Given the description of an element on the screen output the (x, y) to click on. 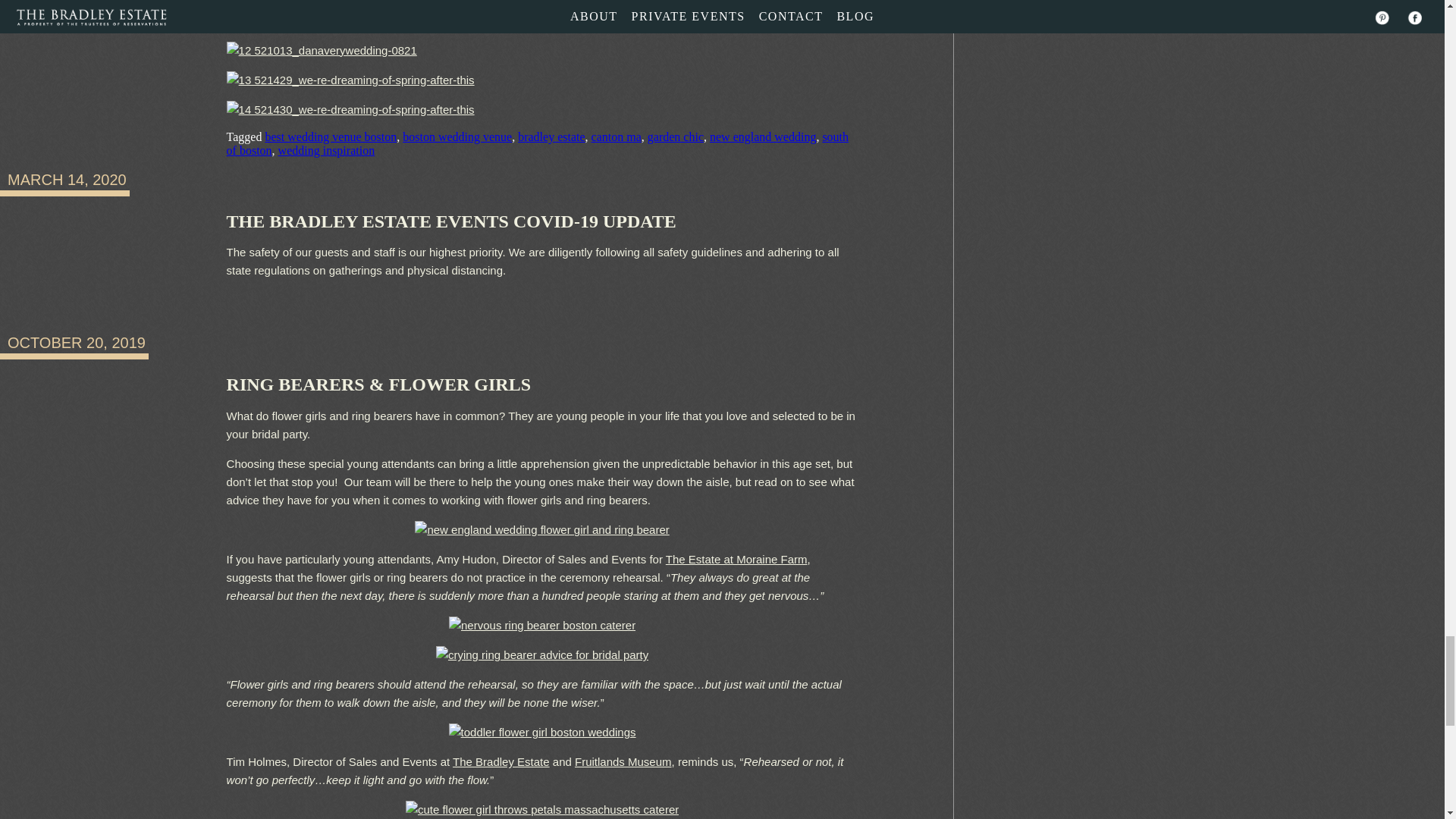
new england wedding (762, 136)
garden chic (675, 136)
best wedding venue boston (330, 136)
bradley estate (551, 136)
canton ma (616, 136)
boston wedding venue (457, 136)
